Given the description of an element on the screen output the (x, y) to click on. 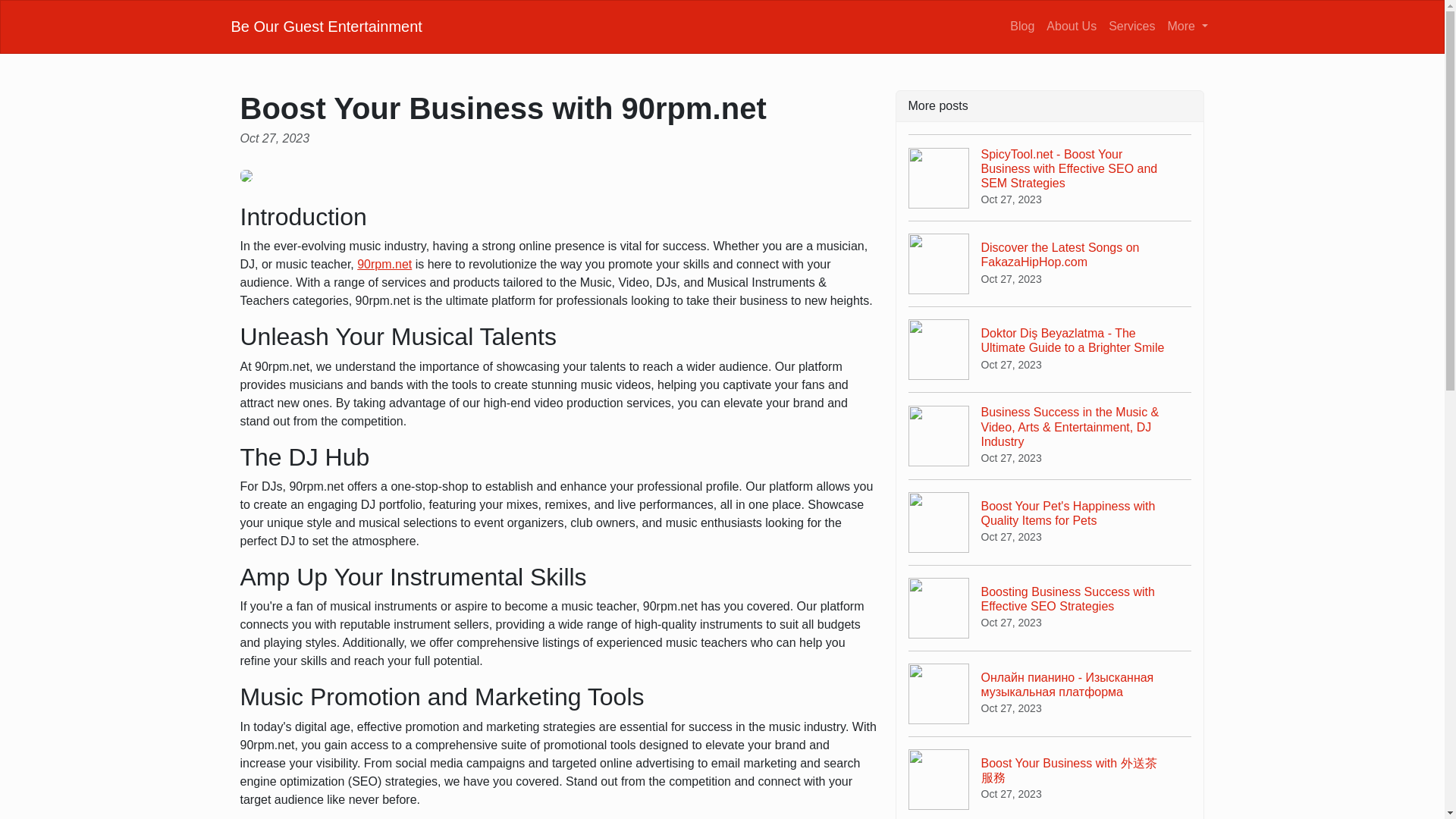
Blog (1022, 26)
Services (1050, 263)
Be Our Guest Entertainment (1131, 26)
90rpm.net (326, 26)
More (384, 264)
About Us (1187, 26)
